Given the description of an element on the screen output the (x, y) to click on. 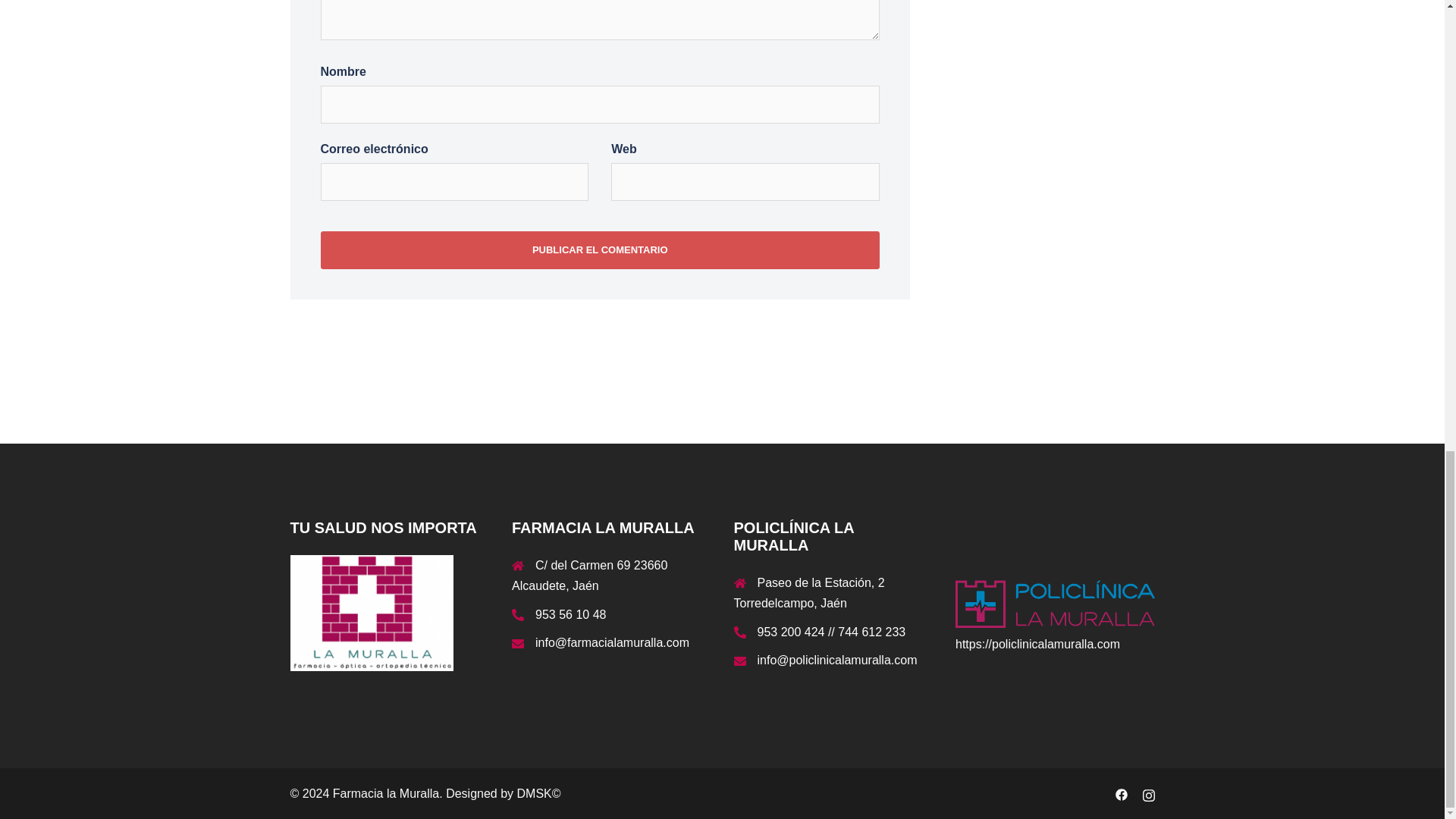
Publicar el comentario (599, 249)
Publicar el comentario (599, 249)
tu salud nos importa (370, 612)
